Given the description of an element on the screen output the (x, y) to click on. 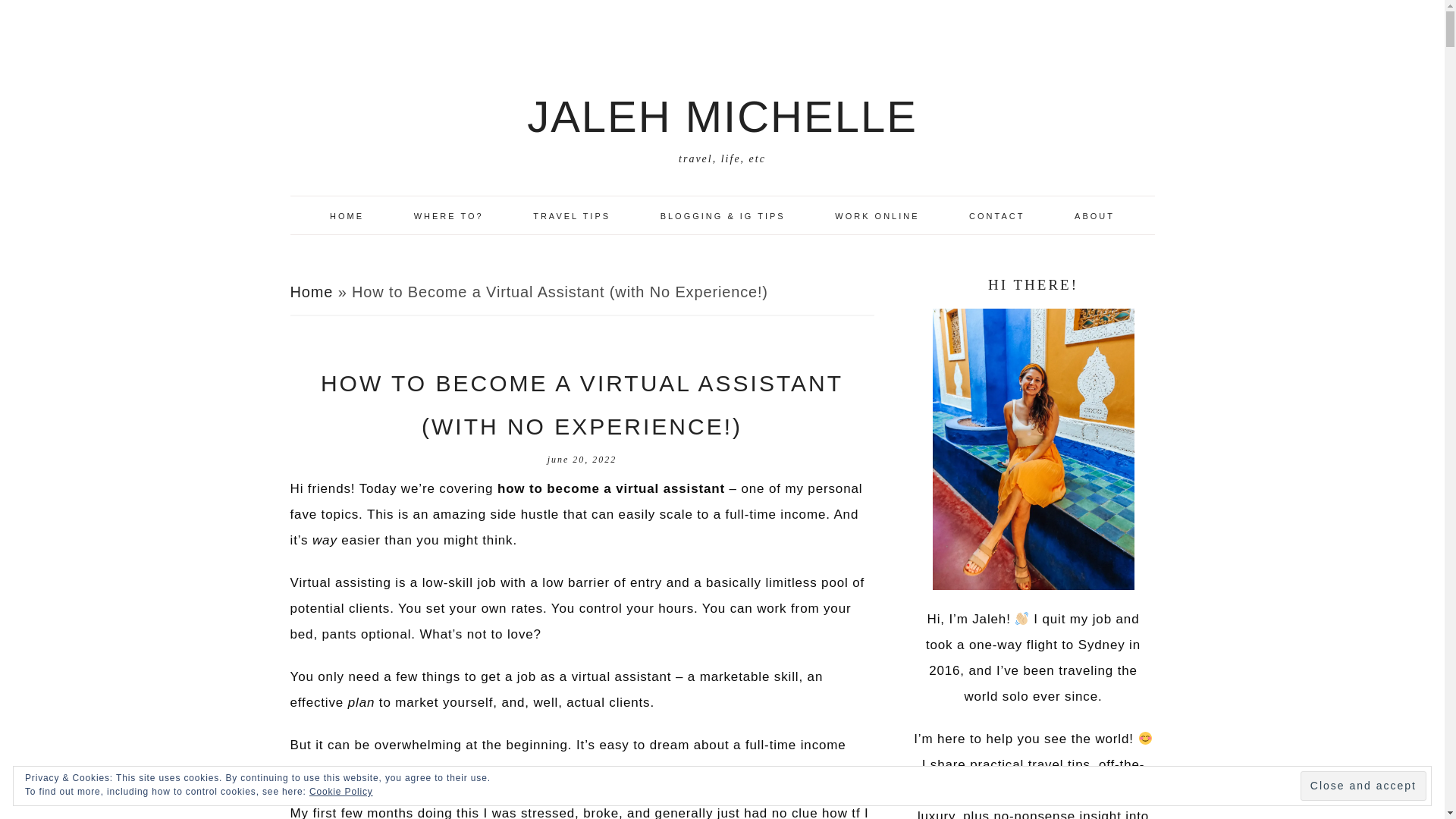
WORK ONLINE (877, 214)
JALEH MICHELLE (722, 115)
Close and accept (1363, 785)
TRAVEL TIPS (572, 214)
HOME (347, 214)
WHERE TO? (448, 214)
